Given the description of an element on the screen output the (x, y) to click on. 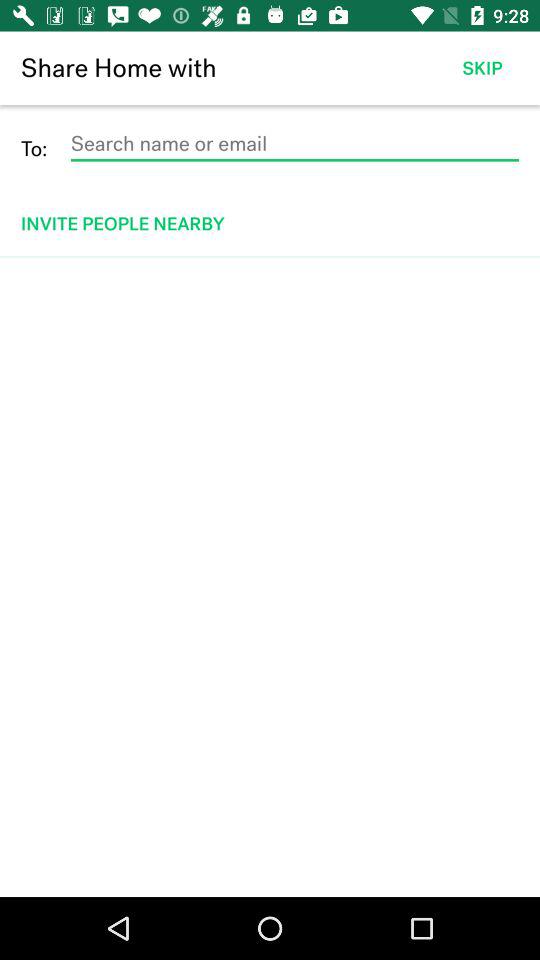
enter search criteria (294, 144)
